Given the description of an element on the screen output the (x, y) to click on. 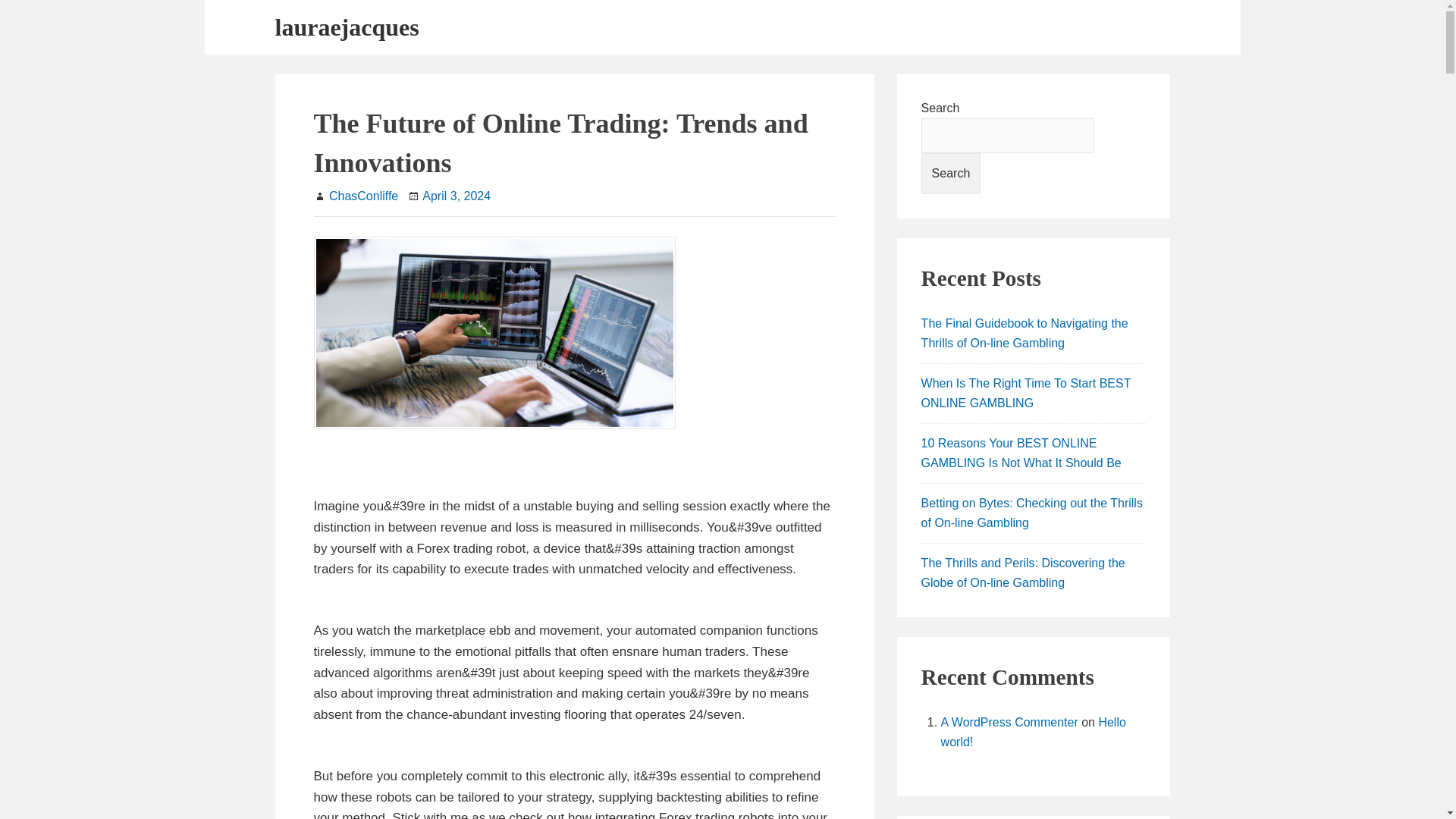
A WordPress Commenter (1009, 721)
When Is The Right Time To Start BEST ONLINE GAMBLING (1026, 392)
ChasConliffe (363, 195)
April 3, 2024 (456, 195)
Hello world! (1032, 731)
Search (951, 173)
lauraejacques (347, 26)
